Given the description of an element on the screen output the (x, y) to click on. 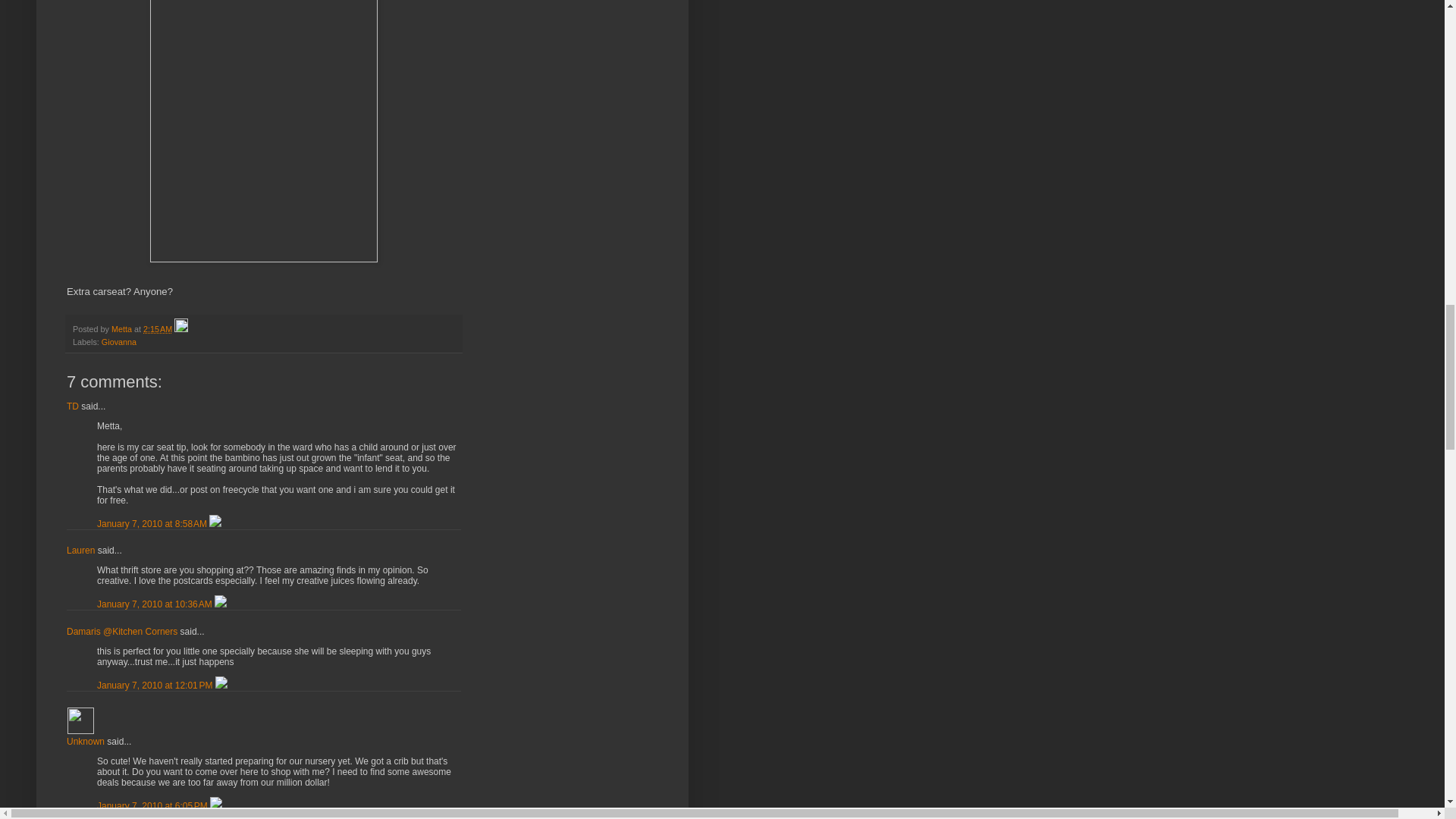
comment permalink (156, 685)
author profile (122, 328)
Delete Comment (220, 603)
comment permalink (153, 805)
Delete Comment (215, 805)
Edit Post (180, 328)
comment permalink (155, 603)
comment permalink (153, 523)
Lauren (80, 550)
Delete Comment (215, 523)
Unknown (80, 720)
